Given the description of an element on the screen output the (x, y) to click on. 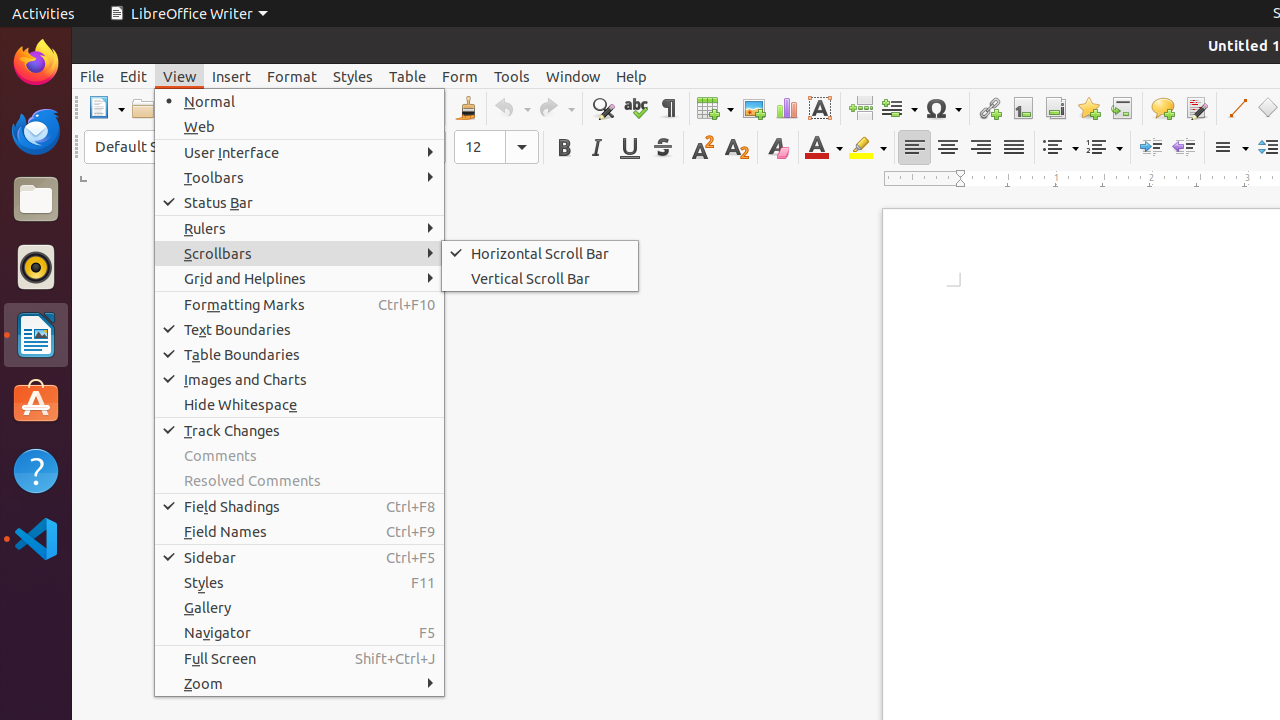
Footnote Element type: push-button (1022, 108)
Endnote Element type: push-button (1055, 108)
Clear Element type: push-button (777, 147)
Text Boundaries Element type: check-menu-item (299, 329)
LibreOffice Writer Element type: menu (188, 13)
